Given the description of an element on the screen output the (x, y) to click on. 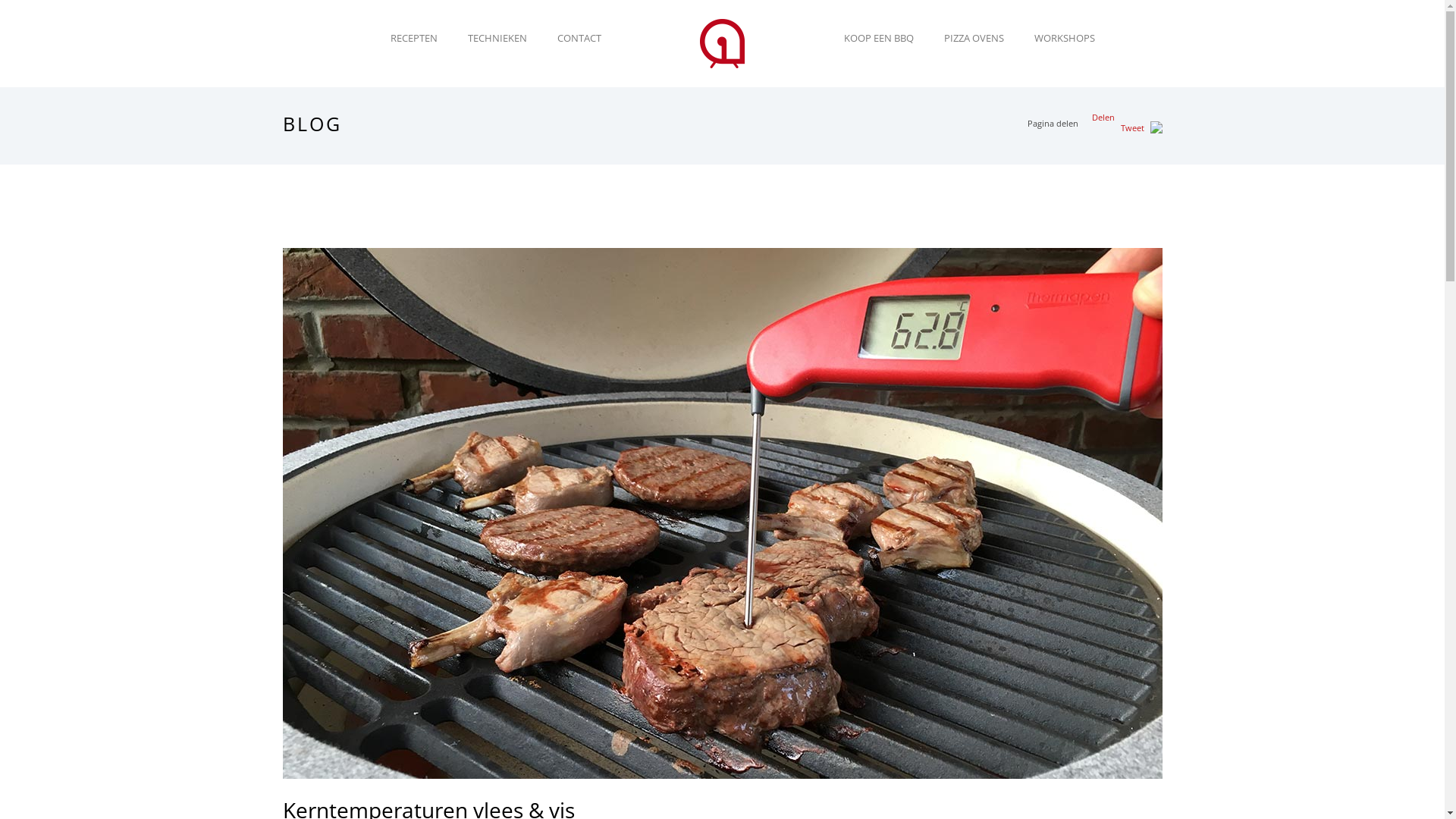
WORKSHOPS Element type: text (1064, 37)
Delen Element type: text (1103, 116)
CONTACT Element type: text (578, 37)
BLOG Element type: text (311, 123)
Tweet Element type: text (1132, 127)
TECHNIEKEN Element type: text (496, 37)
PIZZA OVENS Element type: text (973, 37)
RECEPTEN Element type: text (412, 37)
KOOP EEN BBQ Element type: text (878, 37)
